Given the description of an element on the screen output the (x, y) to click on. 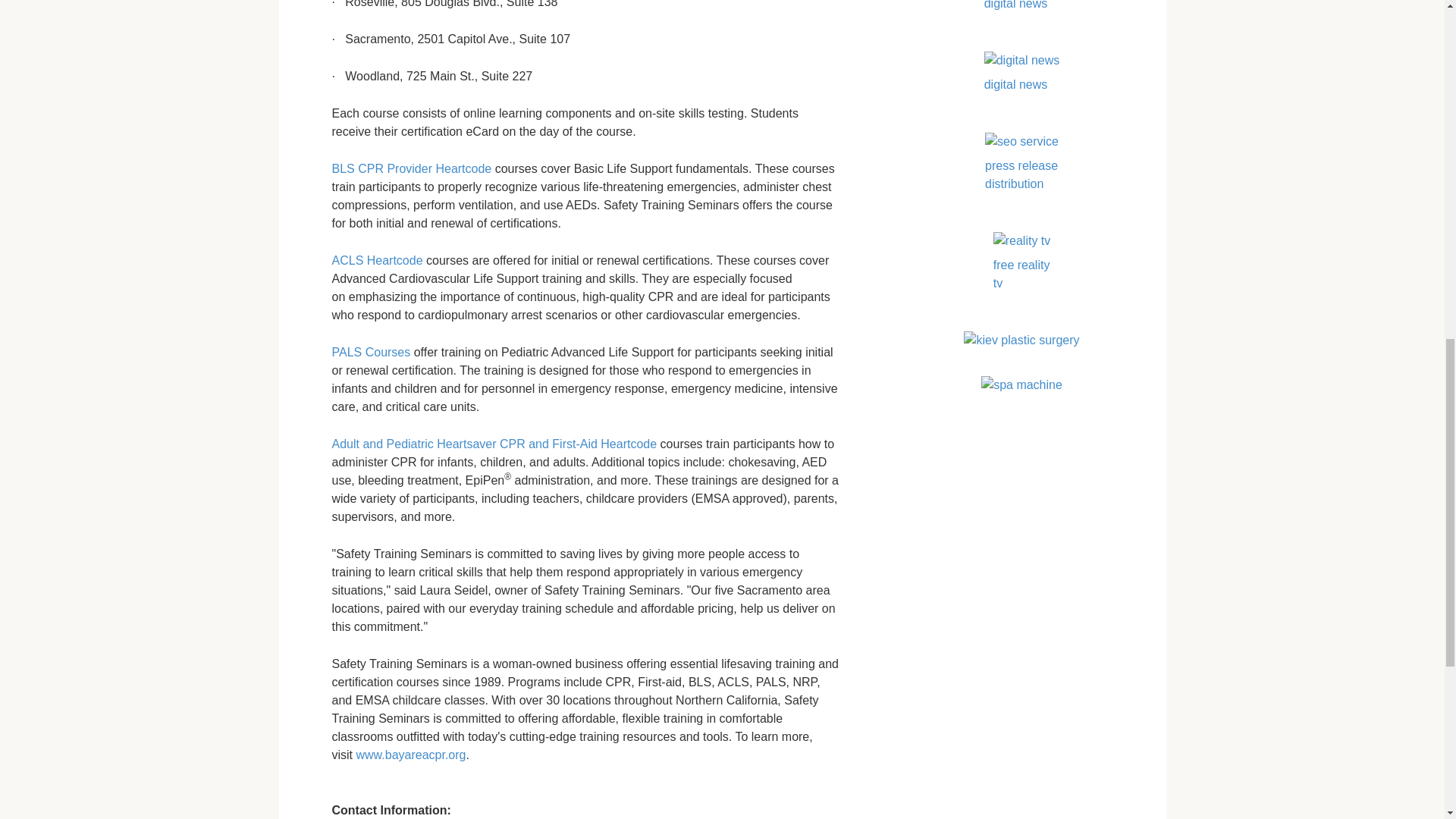
PALS Courses (370, 351)
BLS CPR Provider Heartcode (411, 168)
Adult and Pediatric Heartsaver CPR and First-Aid Heartcode (494, 443)
ACLS Heartcode (377, 259)
 www.bayareacpr.org (408, 754)
